Given the description of an element on the screen output the (x, y) to click on. 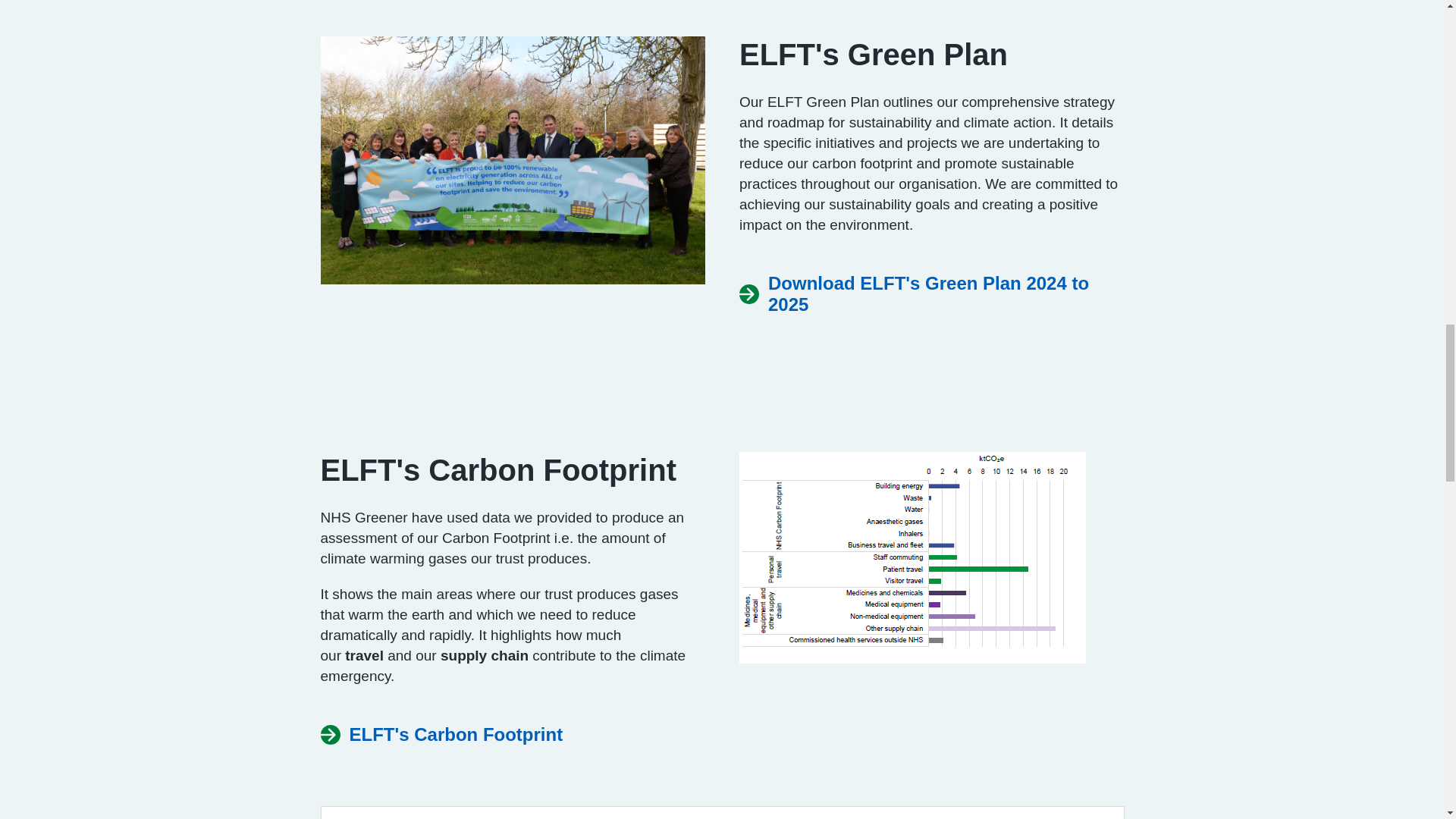
Download ELFT's Green Plan 2024 to 2025 (931, 293)
ELFT's Carbon Footprint (441, 734)
